Given the description of an element on the screen output the (x, y) to click on. 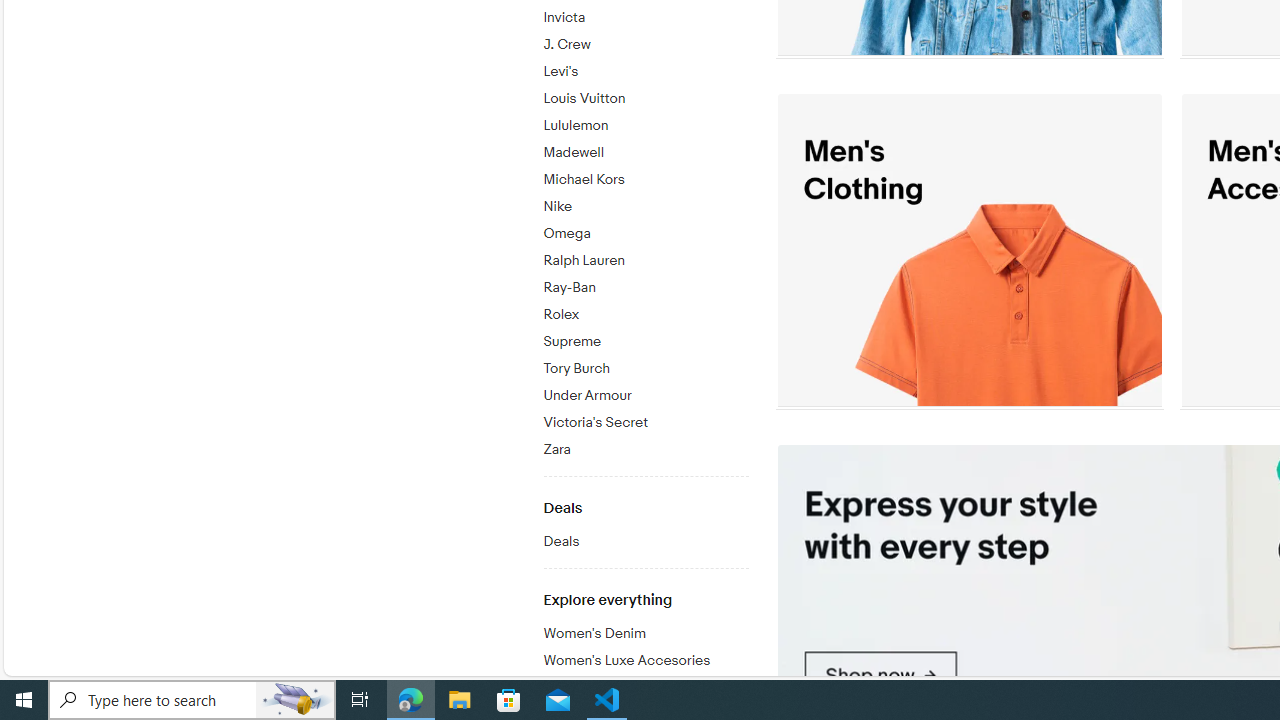
J. Crew (645, 45)
Ray-Ban (645, 288)
1 (969, 250)
Michael Kors (645, 176)
Zara (645, 446)
Zara (645, 450)
Class: carousel__snap-point (968, 250)
Invicta (645, 18)
Louis Vuitton (645, 99)
Rolex (645, 311)
Women's Luxe Accesories (645, 657)
Women's Denim (645, 630)
Nike (645, 207)
Lululemon (645, 126)
1 (969, 250)
